Given the description of an element on the screen output the (x, y) to click on. 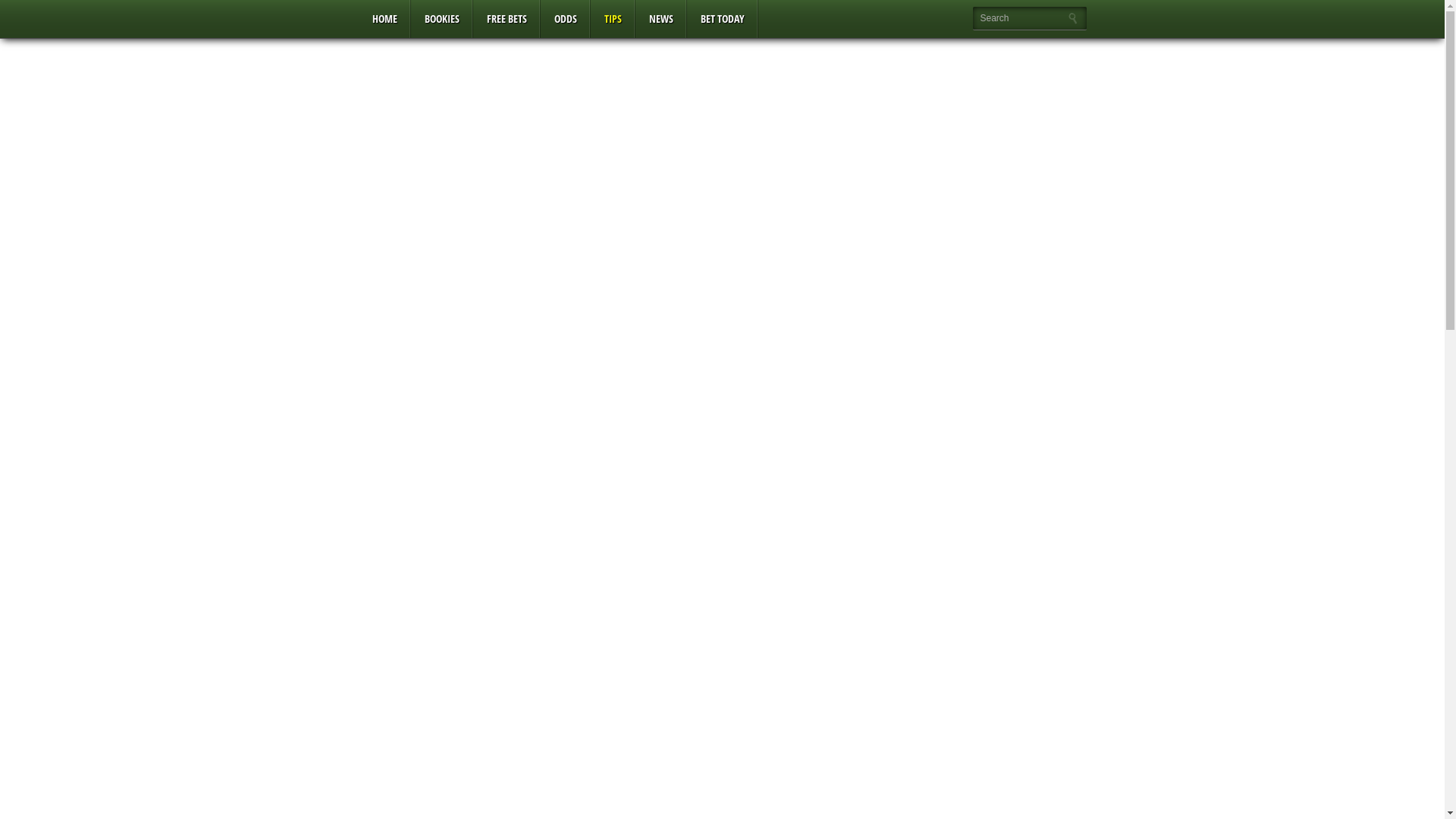
FREE BETS Element type: text (506, 18)
NEWS Element type: text (661, 18)
ODDS Element type: text (564, 18)
BOOKIES Element type: text (442, 18)
TIPS Element type: text (611, 18)
HOME Element type: text (383, 18)
BET TODAY Element type: text (722, 18)
